Given the description of an element on the screen output the (x, y) to click on. 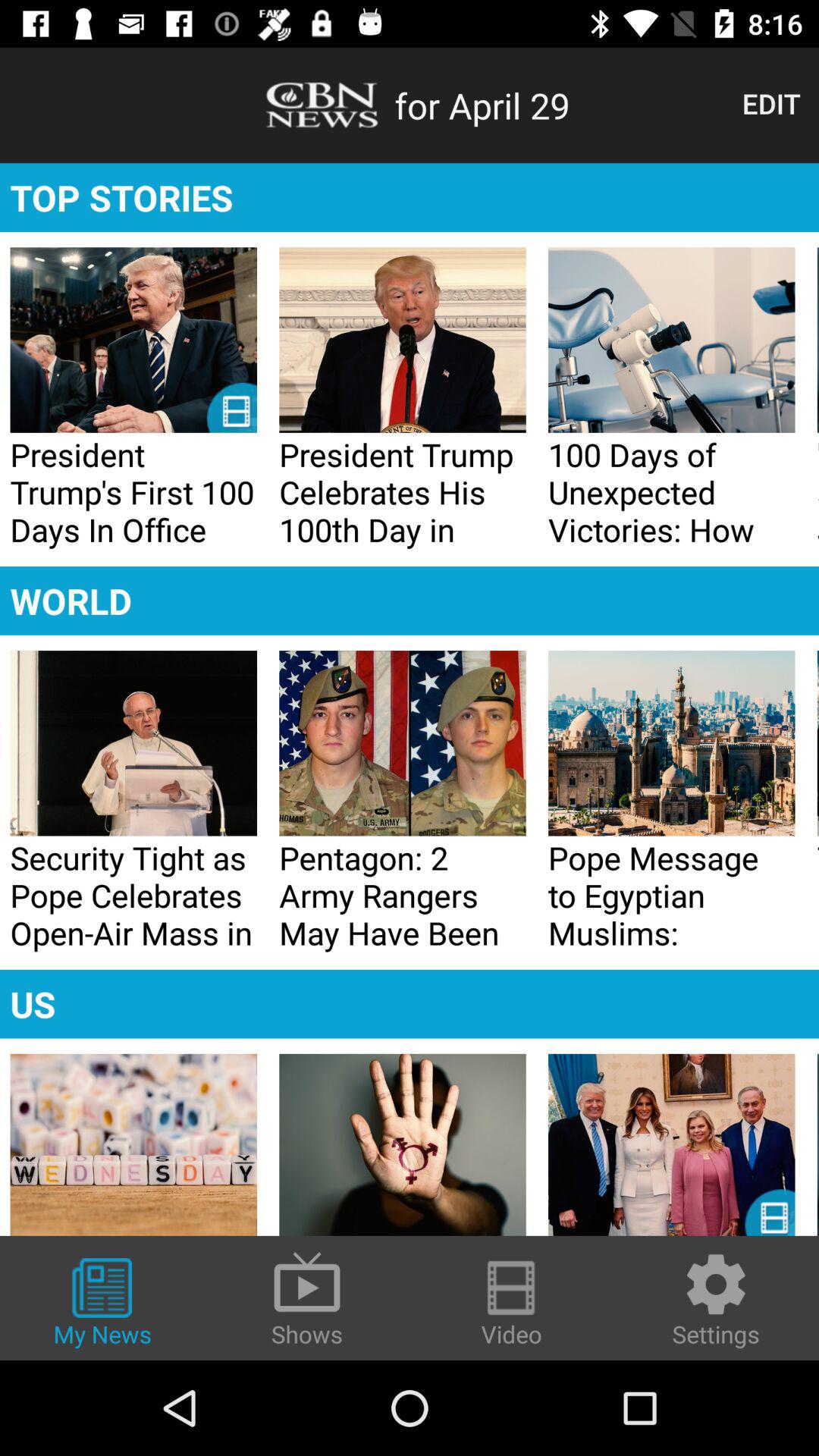
scroll until the shows icon (306, 1298)
